Given the description of an element on the screen output the (x, y) to click on. 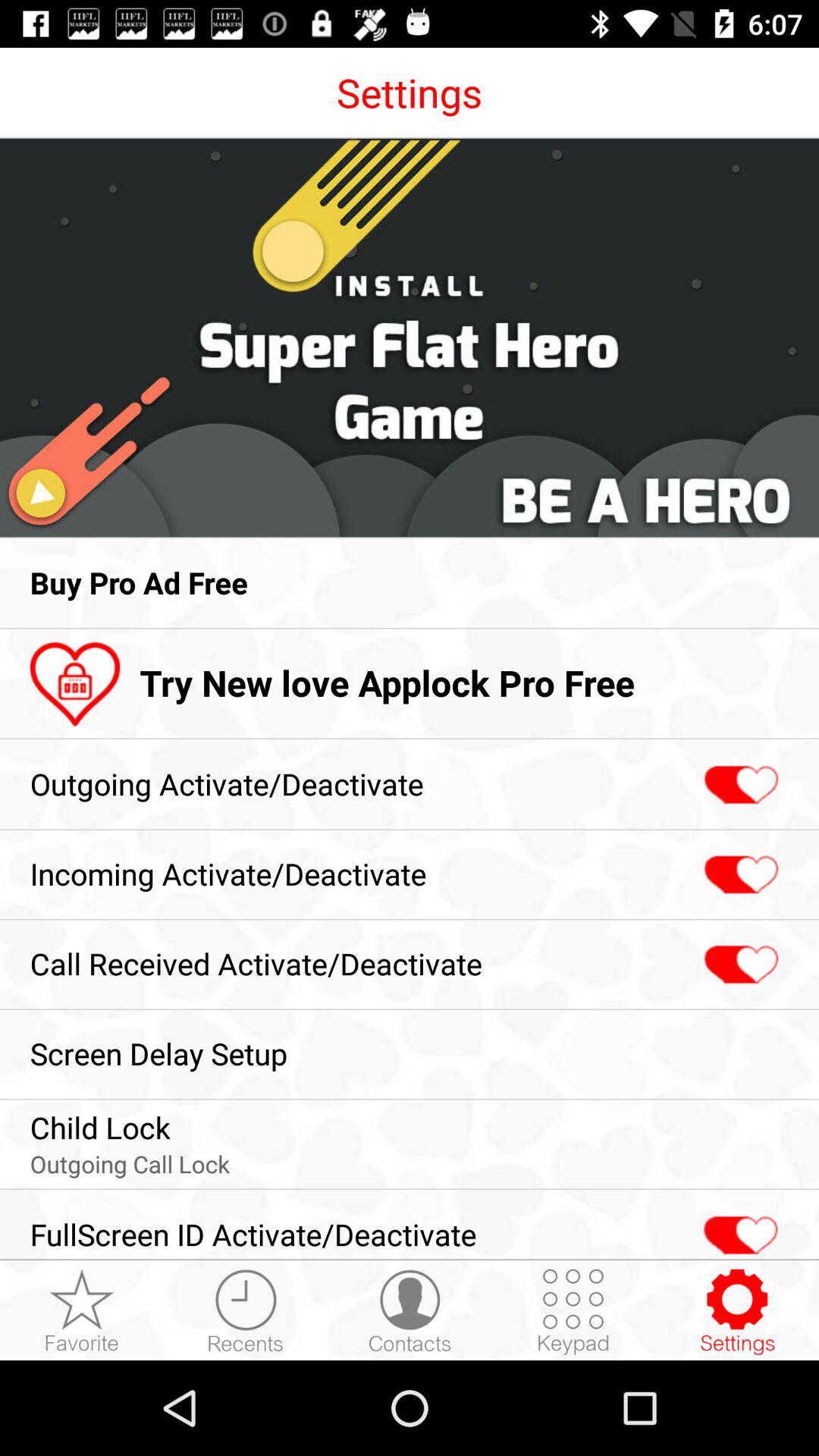
keypad (573, 1311)
